Given the description of an element on the screen output the (x, y) to click on. 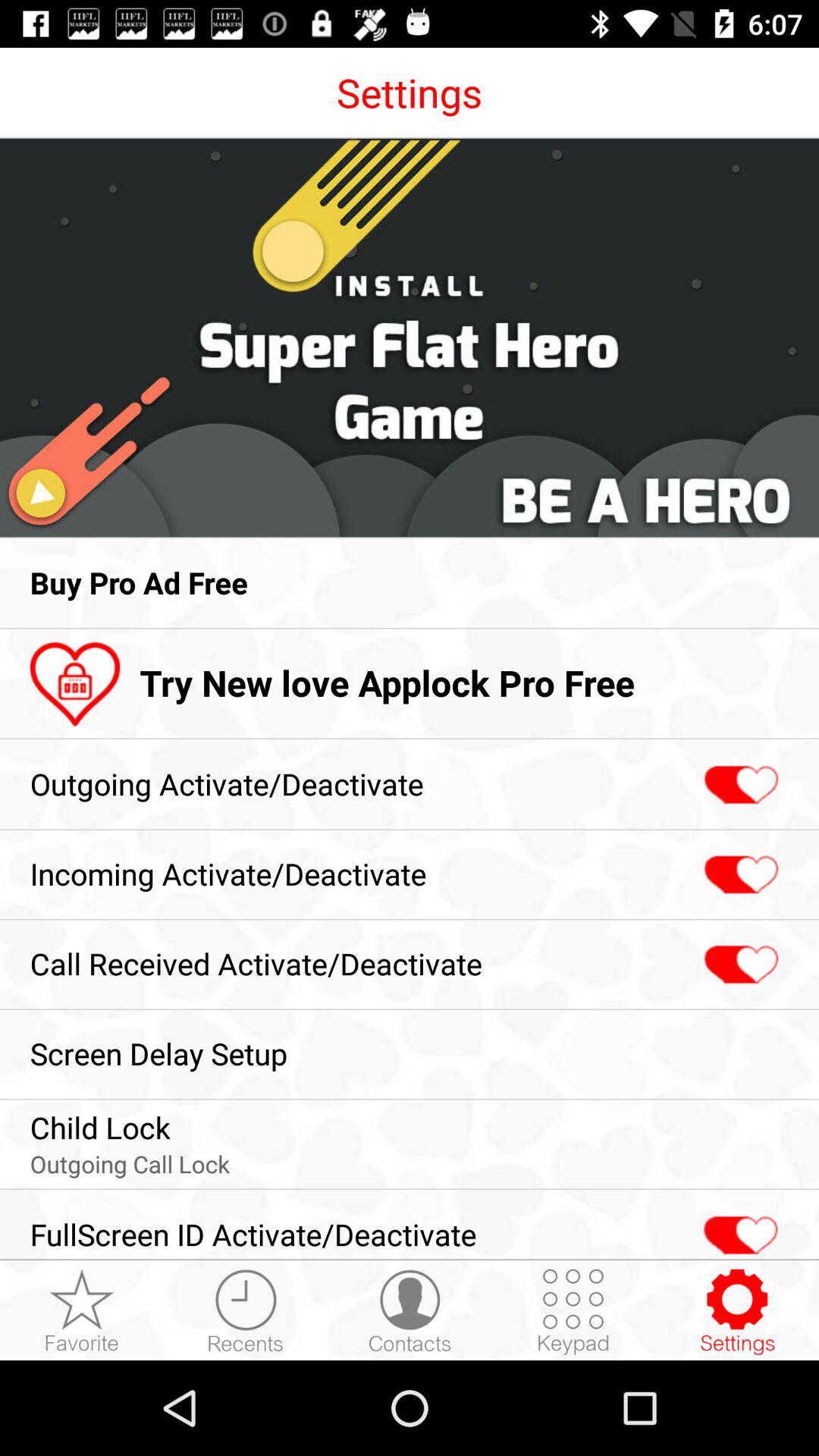
keypad (573, 1311)
